Given the description of an element on the screen output the (x, y) to click on. 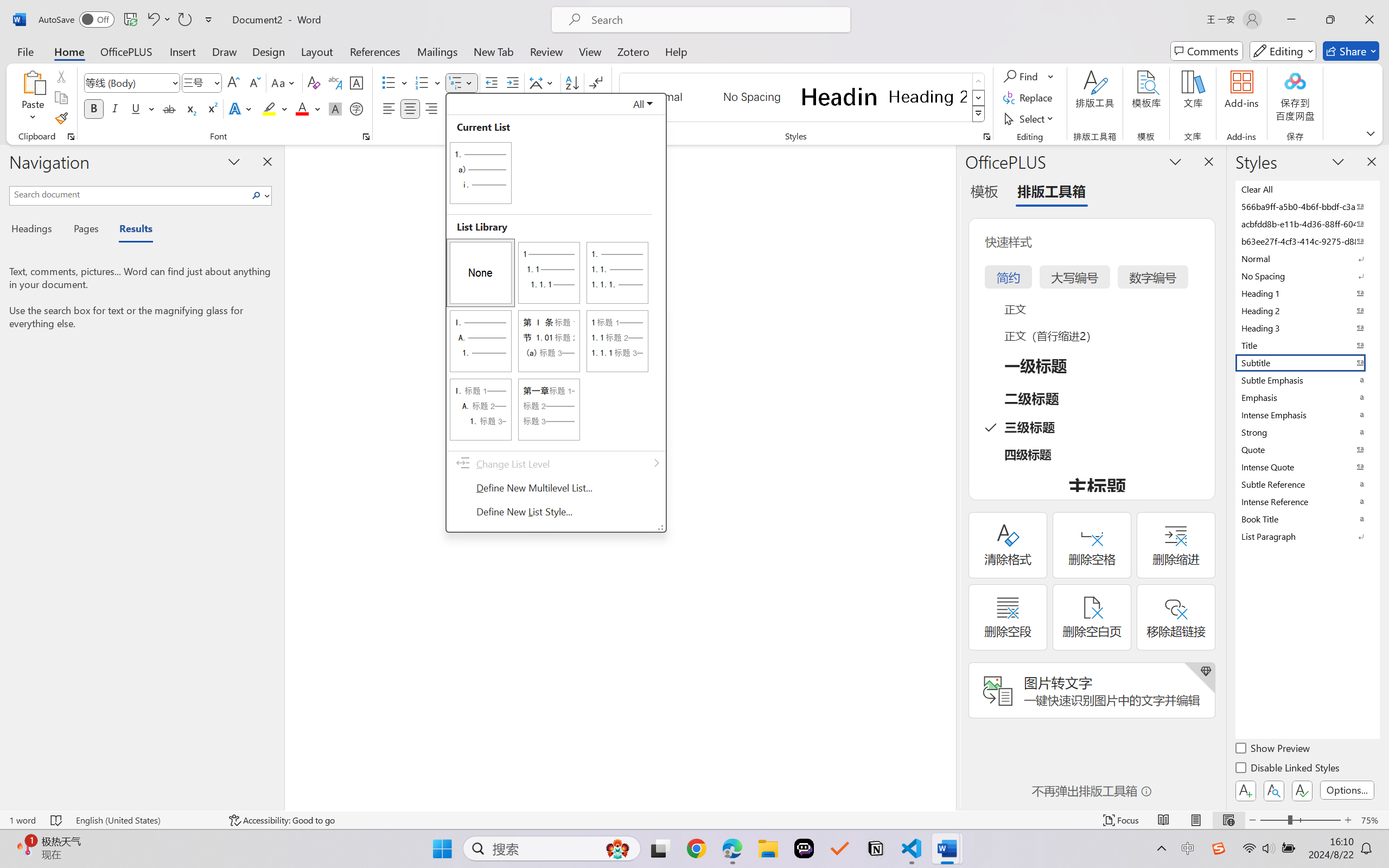
Close (Escape) (1299, 65)
Output (Ctrl+Shift+U) (229, 655)
Find (1135, 65)
Split Editor Right (Ctrl+\) [Alt] Split Editor Down (1362, 31)
No Problems (35, 836)
Terminal (Ctrl+`) (326, 655)
Terminal 2 Python (1357, 685)
Ports (362, 655)
More Actions... (1376, 31)
Title actions (1285, 10)
